Given the description of an element on the screen output the (x, y) to click on. 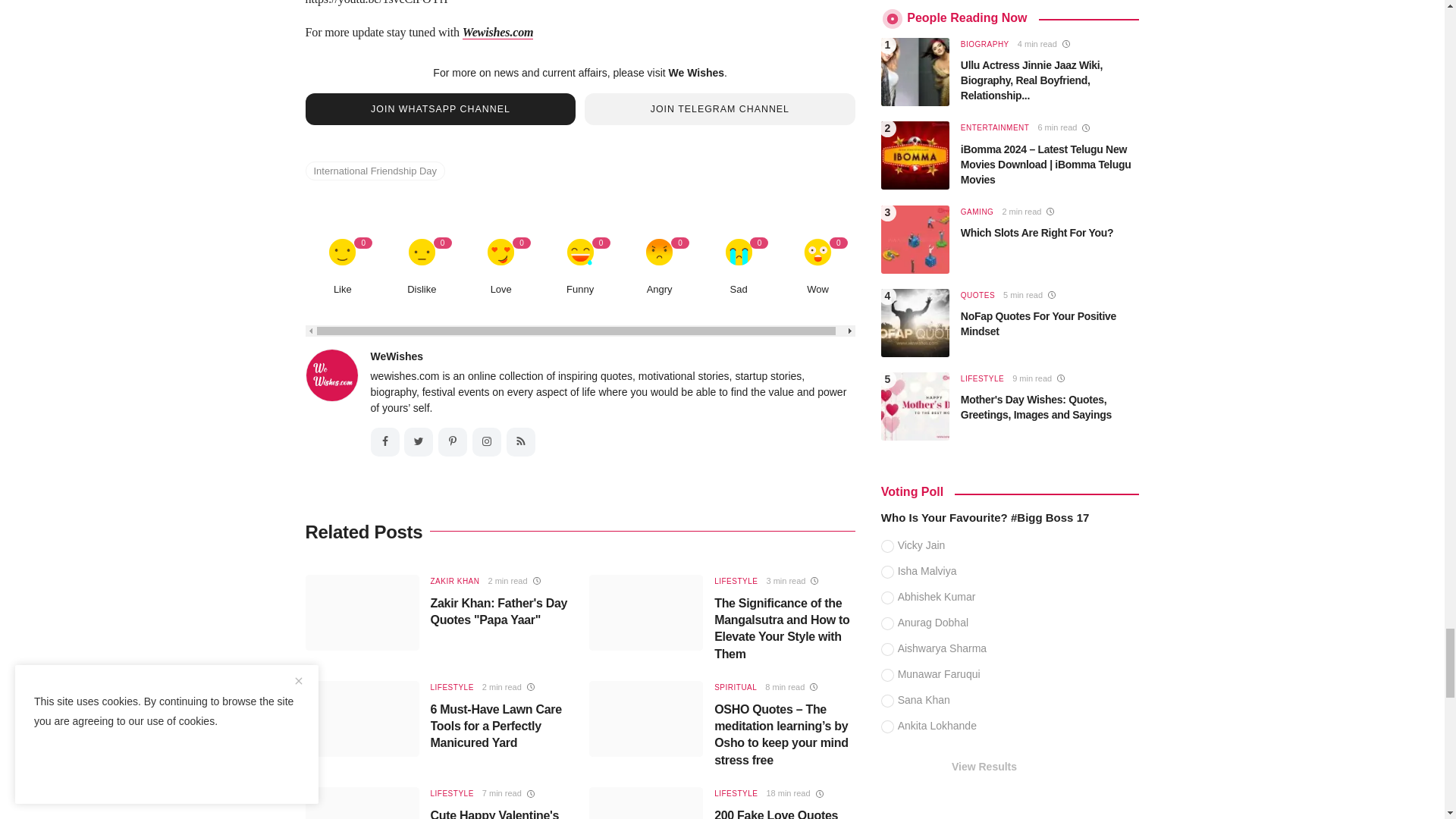
instagram (485, 441)
pinterest (452, 441)
twitter (418, 441)
RSS feed (520, 441)
facebook (383, 441)
